Given the description of an element on the screen output the (x, y) to click on. 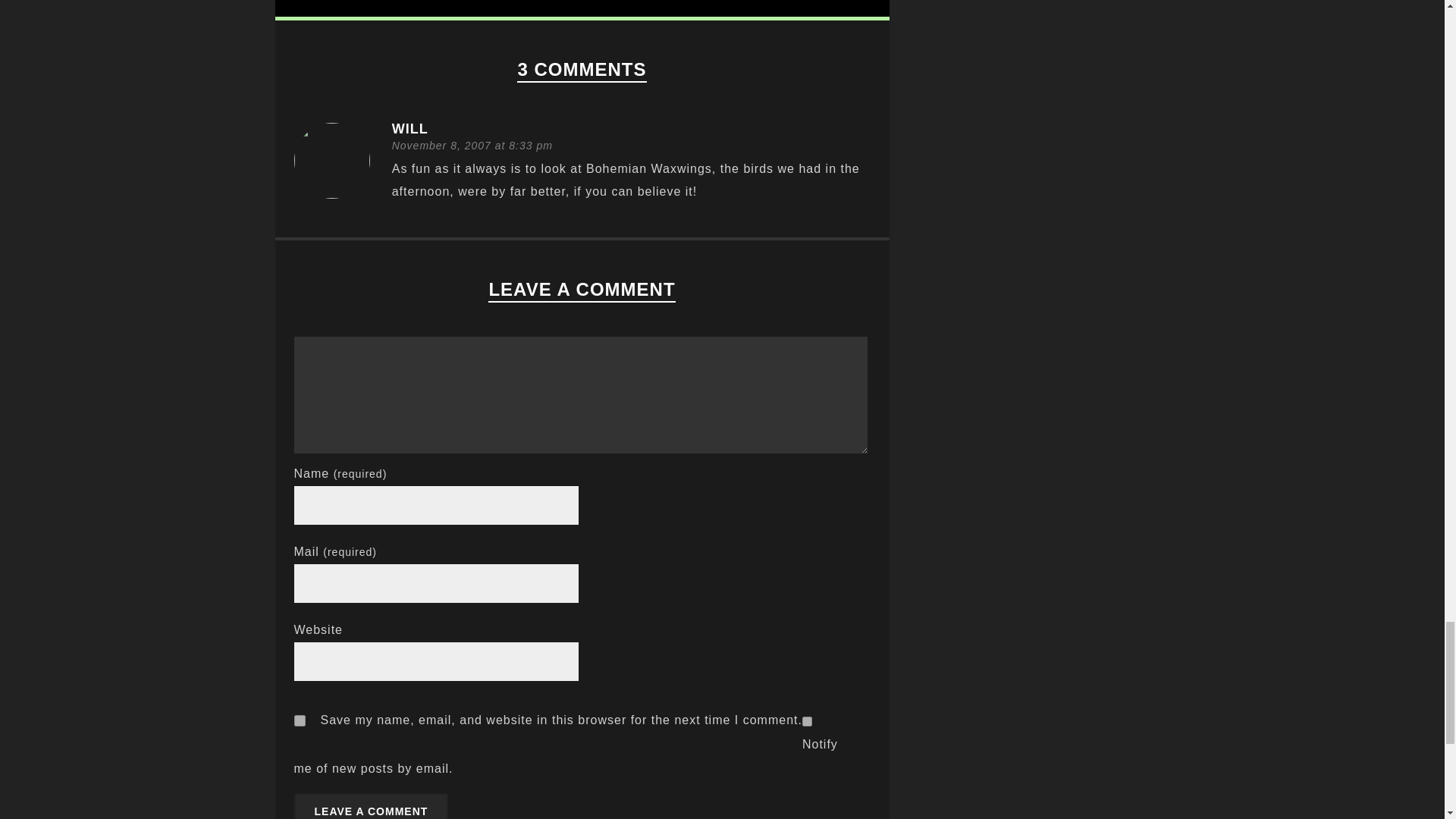
Leave a Comment (371, 806)
yes (299, 720)
